Given the description of an element on the screen output the (x, y) to click on. 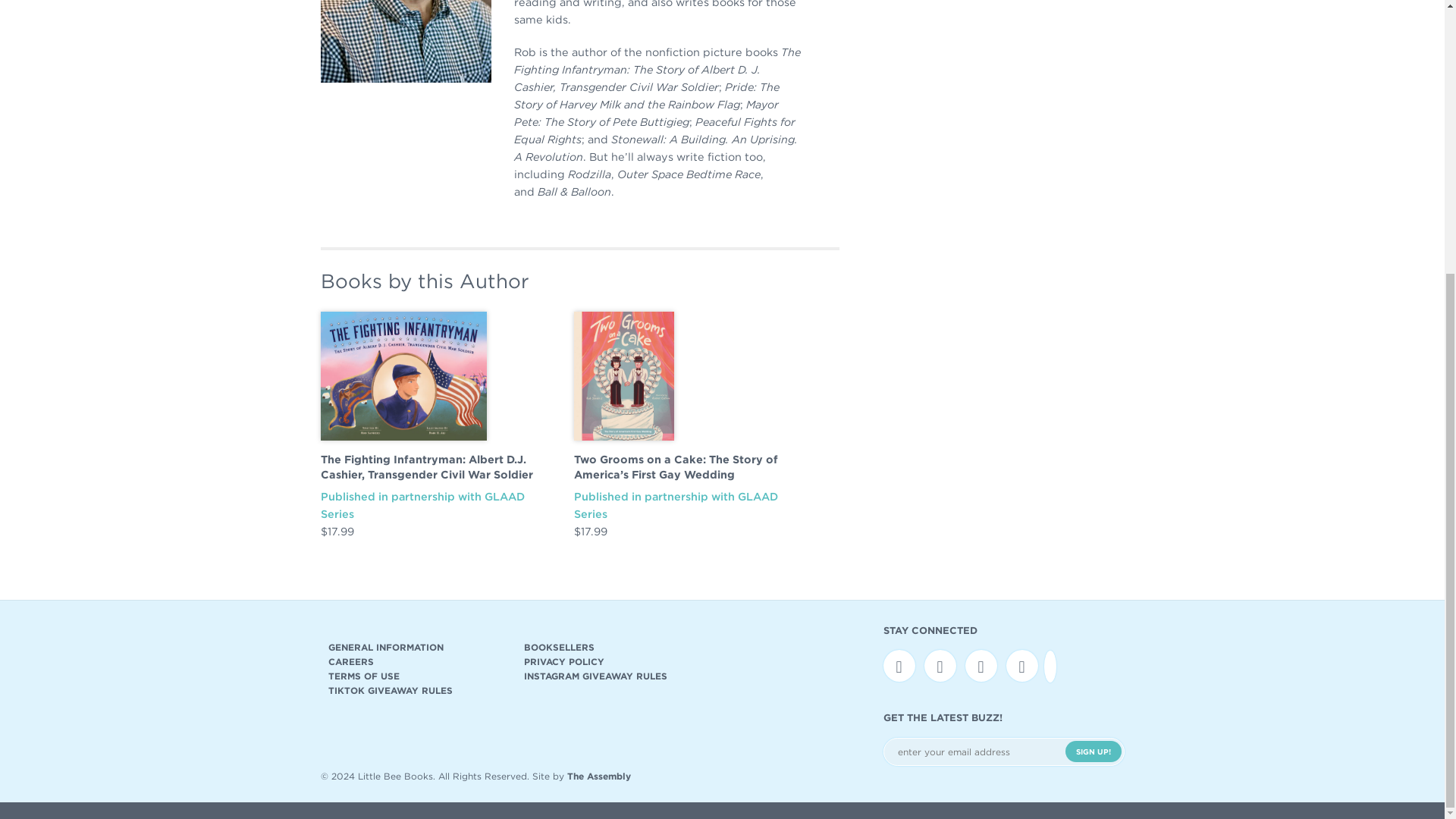
Published in partnership with GLAAD Series (675, 504)
Sign Up! (1092, 751)
PRIVACY POLICY (609, 661)
TERMS OF USE (414, 676)
Sign Up! (1092, 751)
INSTAGRAM GIVEAWAY RULES (609, 676)
GENERAL INFORMATION (414, 646)
TIKTOK GIVEAWAY RULES (414, 690)
Published in partnership with GLAAD Series (422, 504)
9781499809367 (403, 376)
CAREERS (414, 661)
BOOKSELLERS (609, 646)
